Given the description of an element on the screen output the (x, y) to click on. 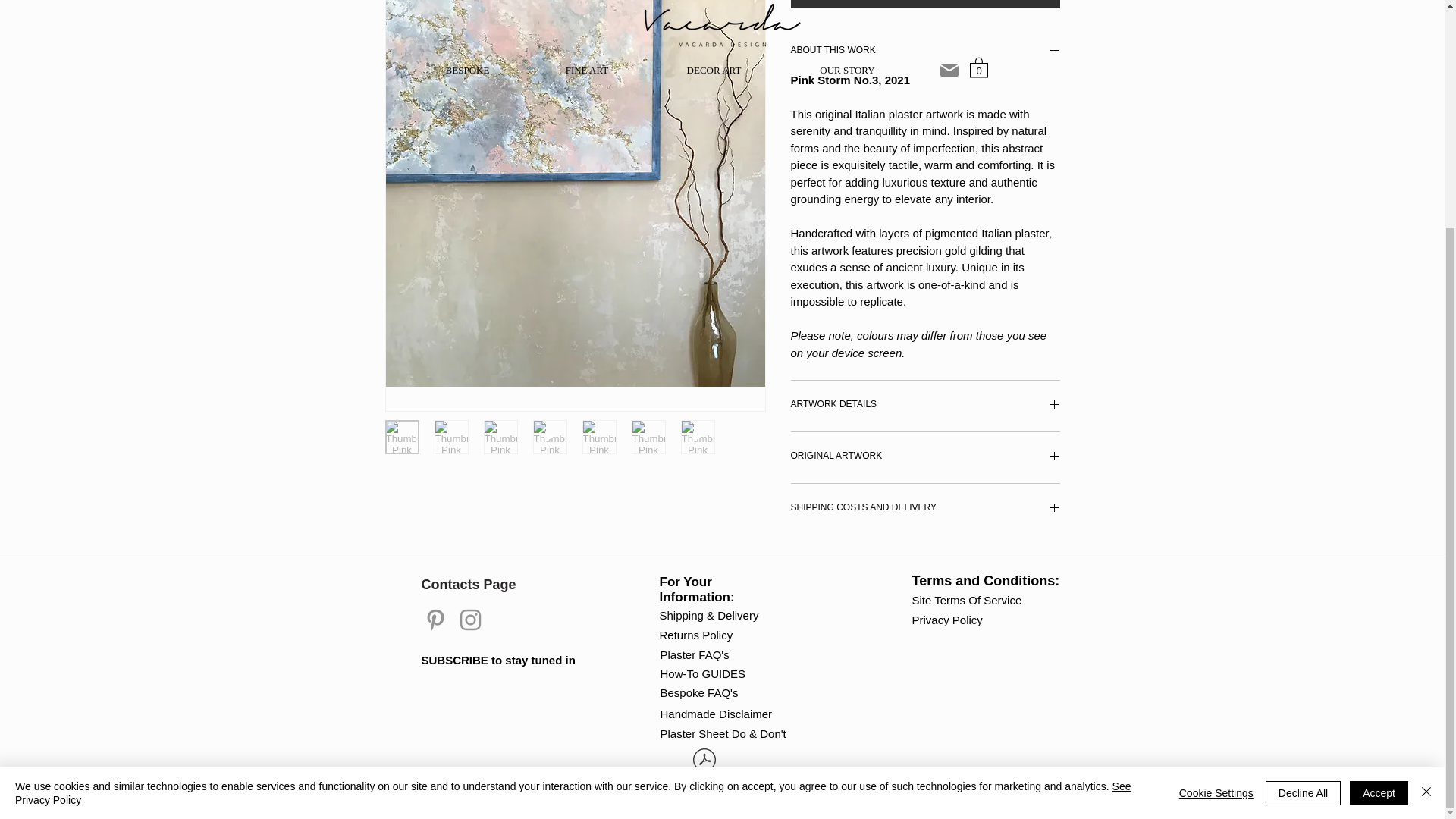
ORIGINAL ARTWORK (924, 457)
ARTWORK DETAILS (924, 405)
Accept (1378, 485)
Contacts Page (475, 584)
Privacy Policy (953, 619)
SUBSCRIBE to stay tuned in (498, 659)
PDF Guide (703, 768)
Acquire (924, 4)
SHIPPING COSTS AND DELIVERY (924, 509)
Decline All (1302, 485)
Bespoke FAQ's (701, 692)
Site Terms Of Service (968, 599)
ABOUT THIS WORK (924, 51)
How-To GUIDES (726, 672)
See Privacy Policy (572, 485)
